Given the description of an element on the screen output the (x, y) to click on. 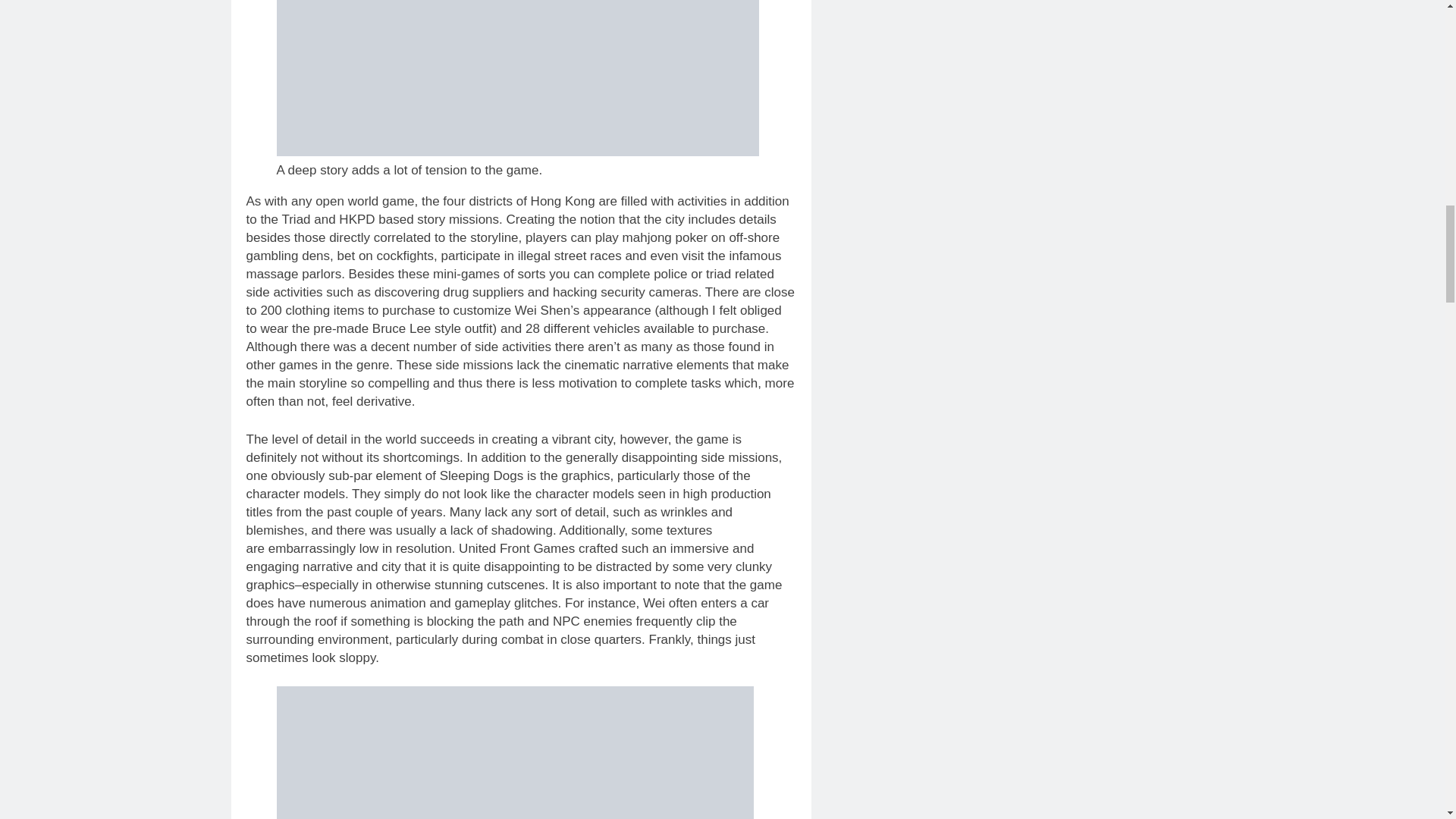
sleeping dogs 2222 (514, 752)
sleeping dogs (517, 78)
